Given the description of an element on the screen output the (x, y) to click on. 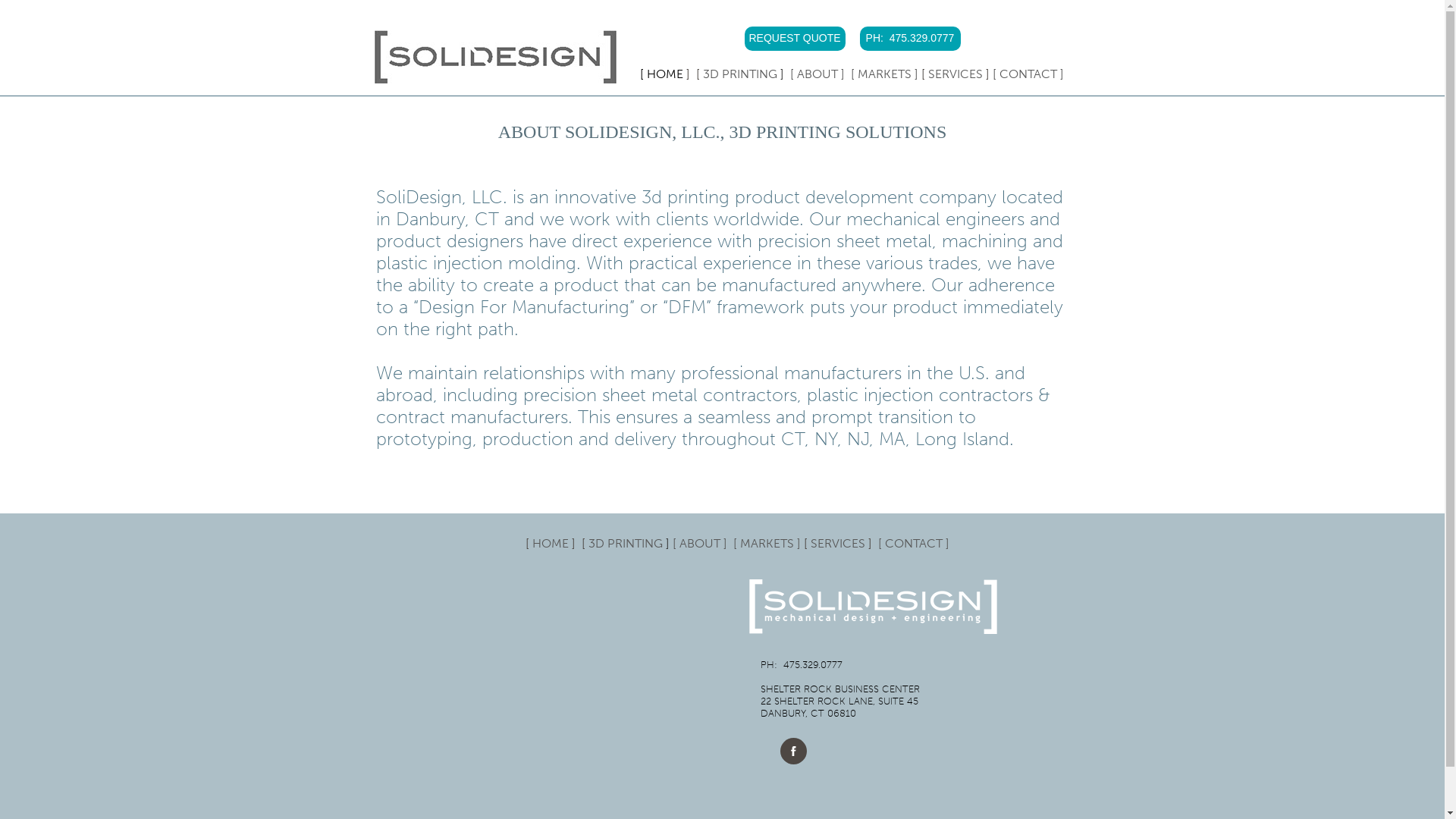
REQUEST QUOTE Element type: text (794, 38)
[ HOME Element type: text (546, 543)
SERVICES Element type: text (837, 543)
SERVICES Element type: text (955, 73)
[ MARKETS ] Element type: text (766, 543)
[ CONTACT ] Element type: text (913, 543)
3D PRINTING Element type: text (625, 543)
3D PRINTING Element type: text (739, 73)
[ ABOUT ]  Element type: text (702, 543)
HOME Element type: text (664, 73)
[ CONTACT ] Element type: text (1027, 73)
[ ABOUT ] Element type: text (817, 73)
[ MARKETS ] Element type: text (884, 73)
